Given the description of an element on the screen output the (x, y) to click on. 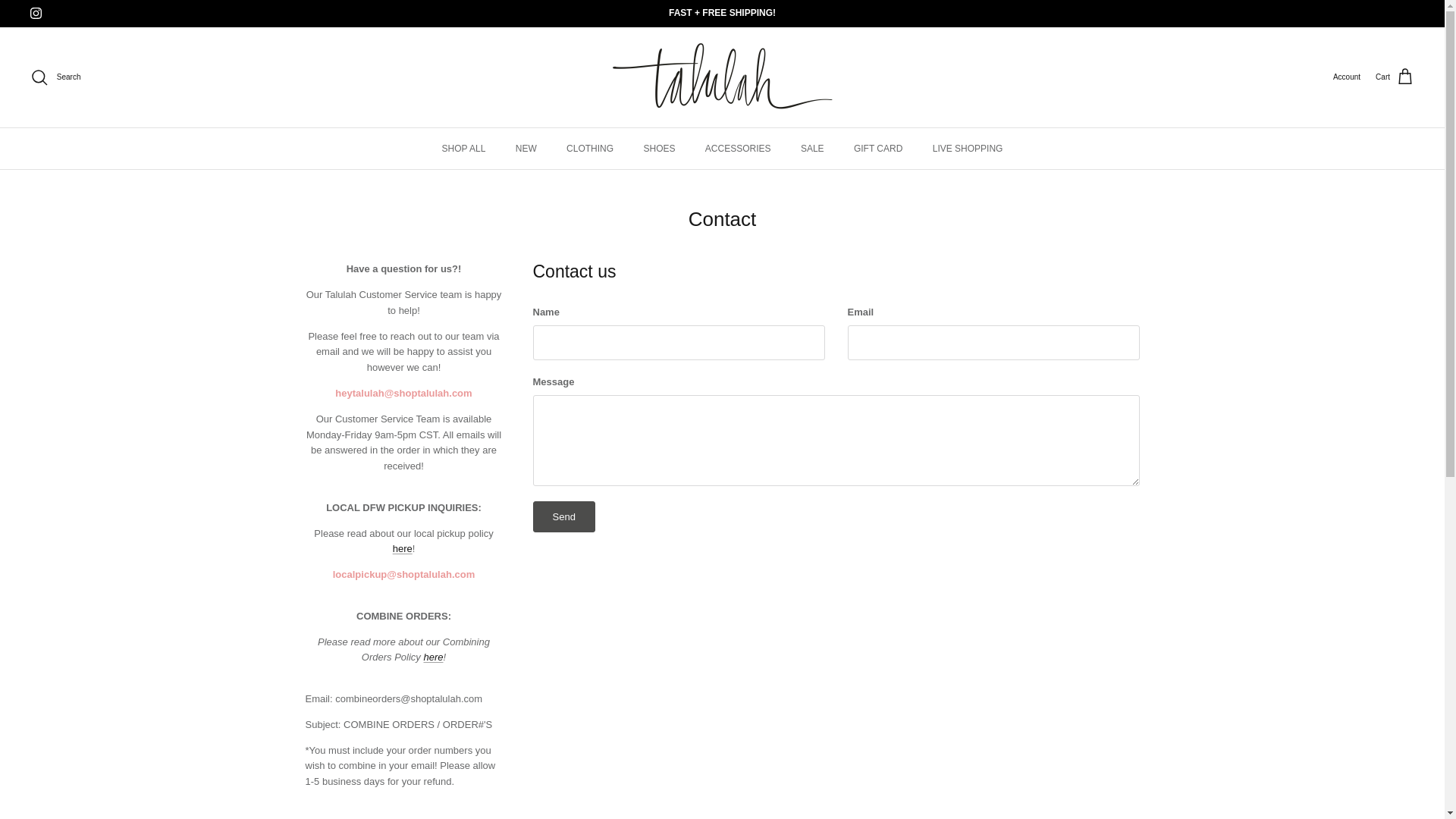
NEW (526, 147)
Shop Talulah (722, 77)
Search (55, 76)
Instagram (36, 12)
Account (1346, 77)
SHOES (658, 147)
SHOP ALL (463, 147)
Instagram (36, 12)
Cart (1394, 76)
CLOTHING (590, 147)
